Given the description of an element on the screen output the (x, y) to click on. 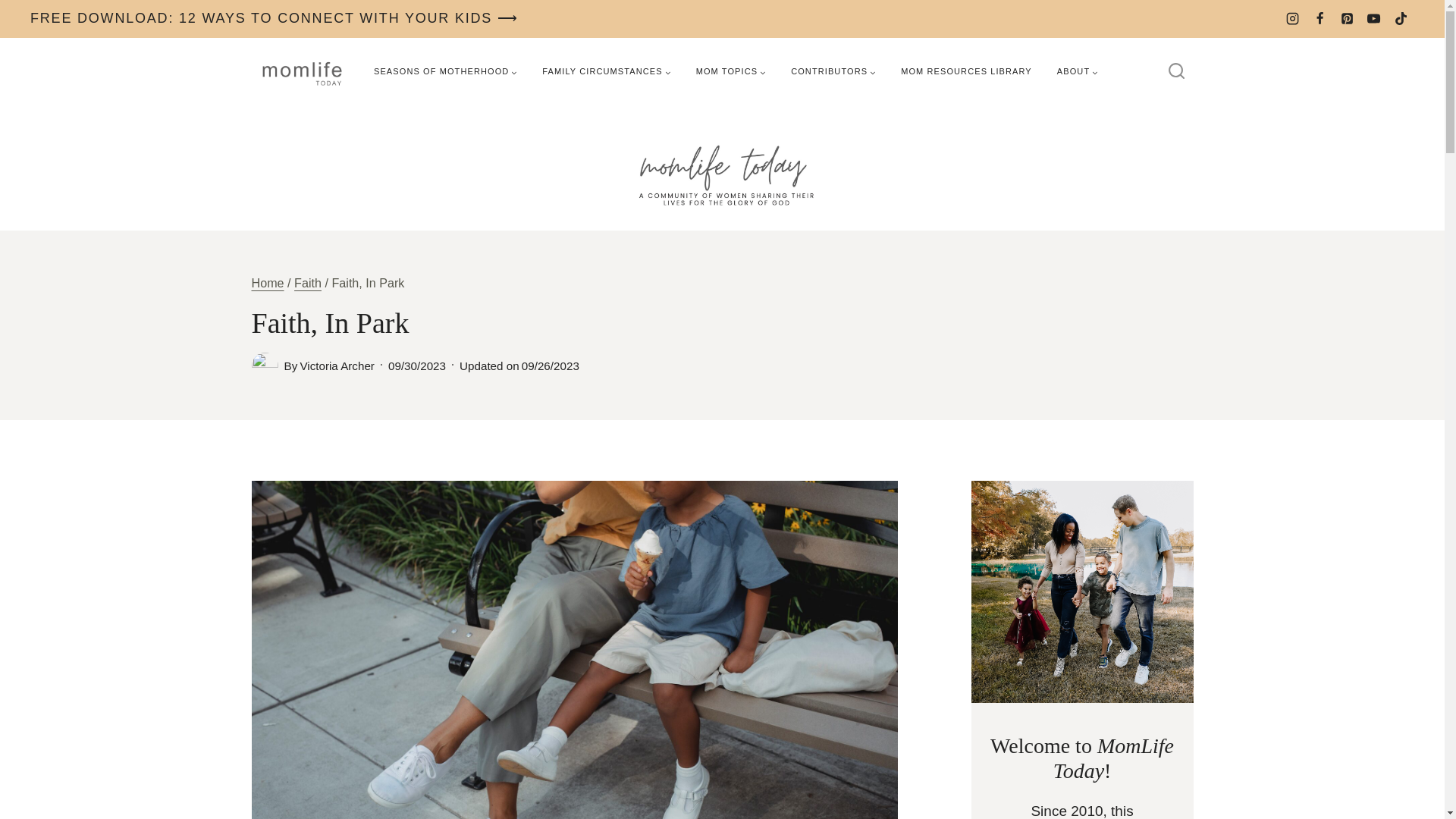
MOM TOPICS (730, 71)
MOM RESOURCES LIBRARY (966, 71)
SEASONS OF MOTHERHOOD (445, 71)
CONTRIBUTORS (833, 71)
FAMILY CIRCUMSTANCES (605, 71)
